Given the description of an element on the screen output the (x, y) to click on. 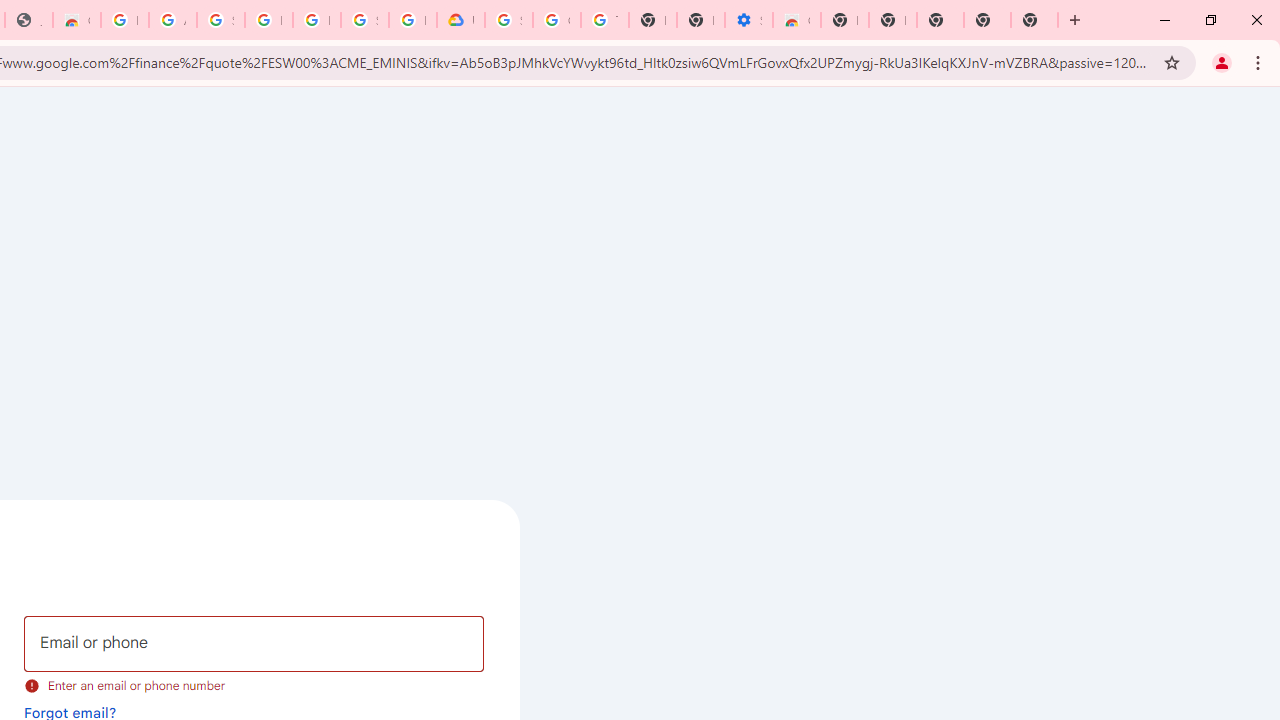
Chrome Web Store - Household (76, 20)
Sign in - Google Accounts (220, 20)
Sign in - Google Accounts (364, 20)
New Tab (1034, 20)
Settings - Accessibility (748, 20)
